Given the description of an element on the screen output the (x, y) to click on. 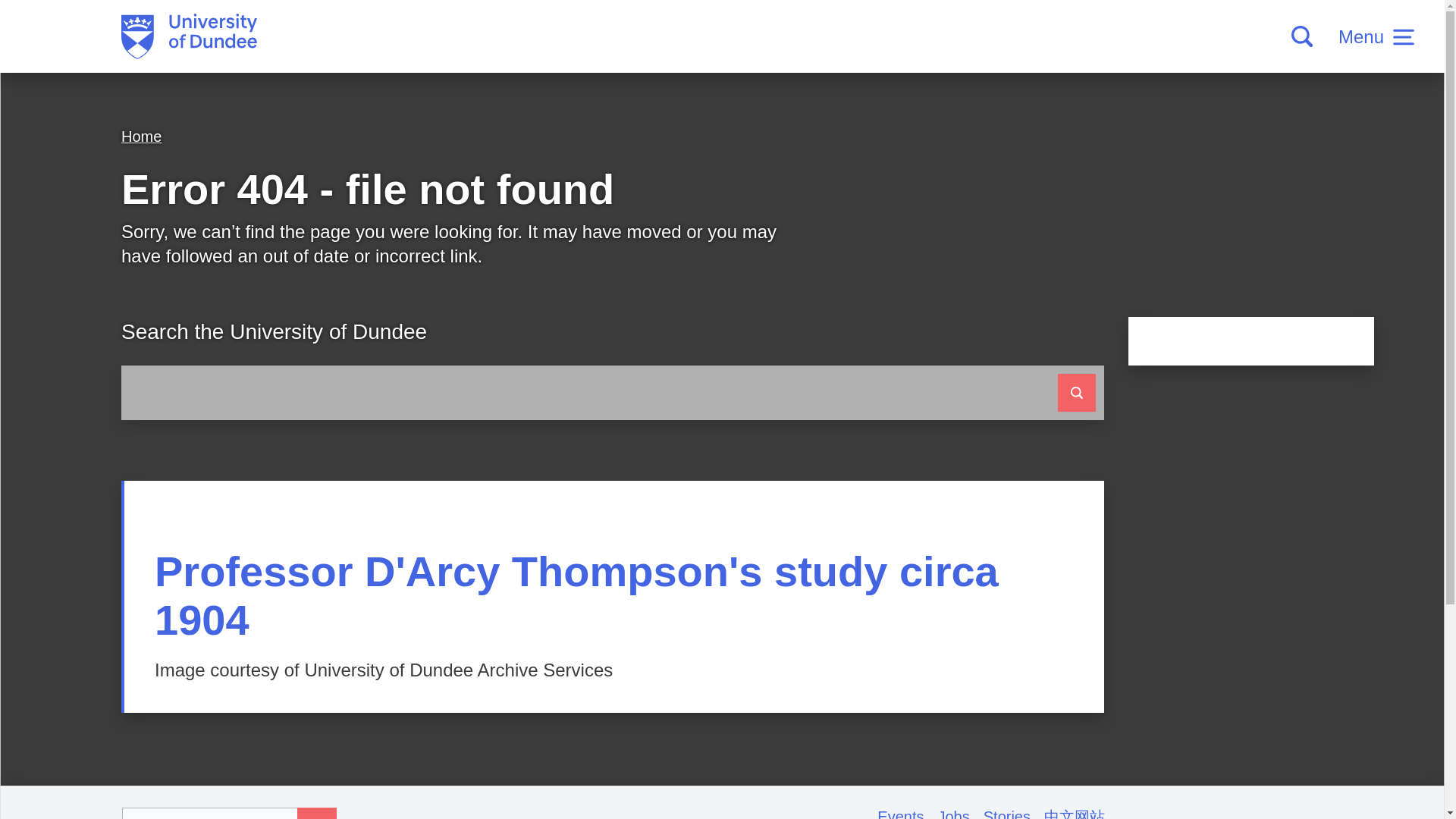
Menu (1375, 36)
Find events that are happening at the University of Dundee (907, 813)
Explore our Chinese language website  (1074, 813)
University of Dundee (188, 35)
